Given the description of an element on the screen output the (x, y) to click on. 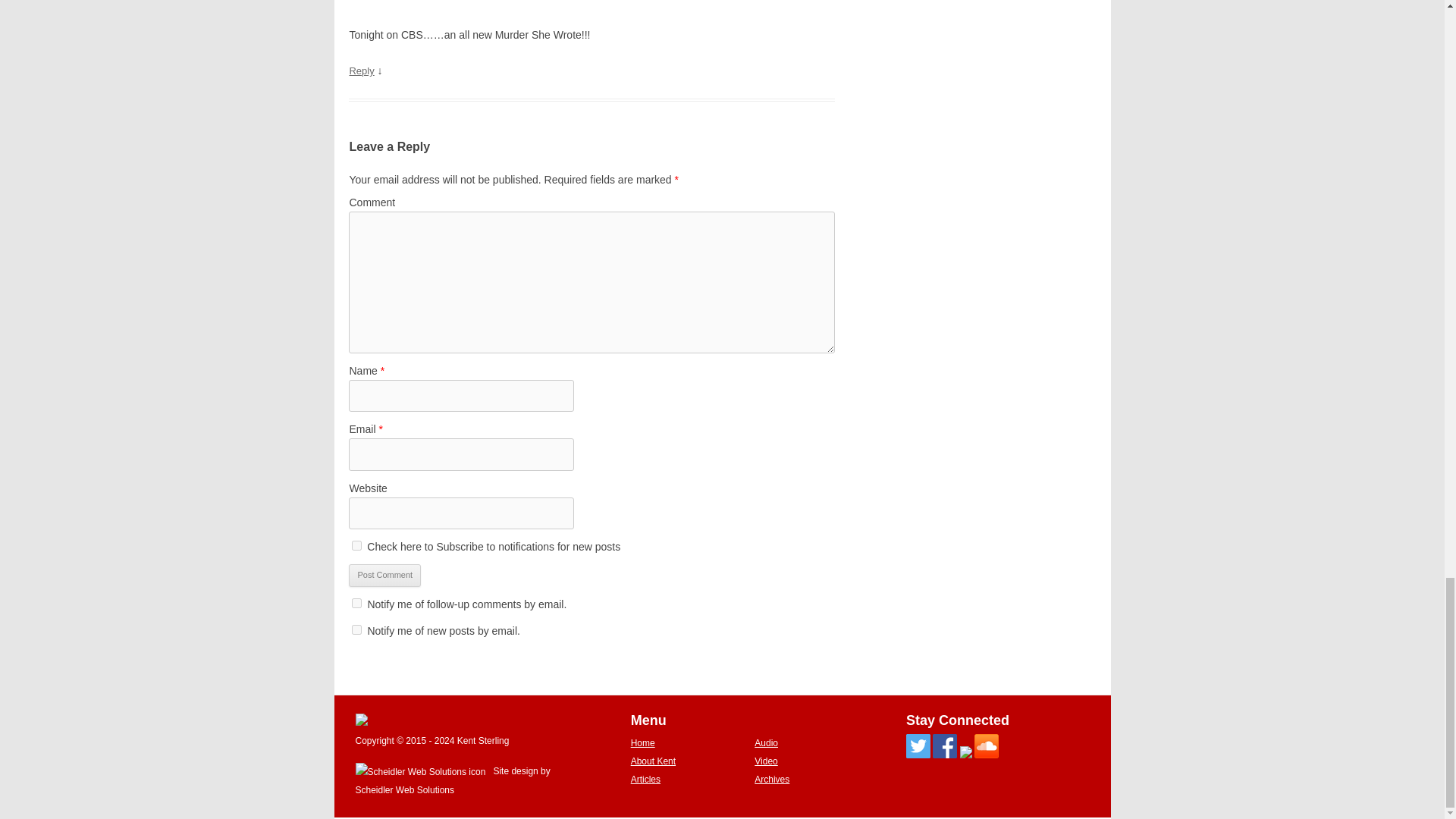
subscribe (356, 629)
subscribe (356, 603)
Post Comment (384, 575)
Post Comment (384, 575)
Reply (361, 70)
1 (356, 545)
